Given the description of an element on the screen output the (x, y) to click on. 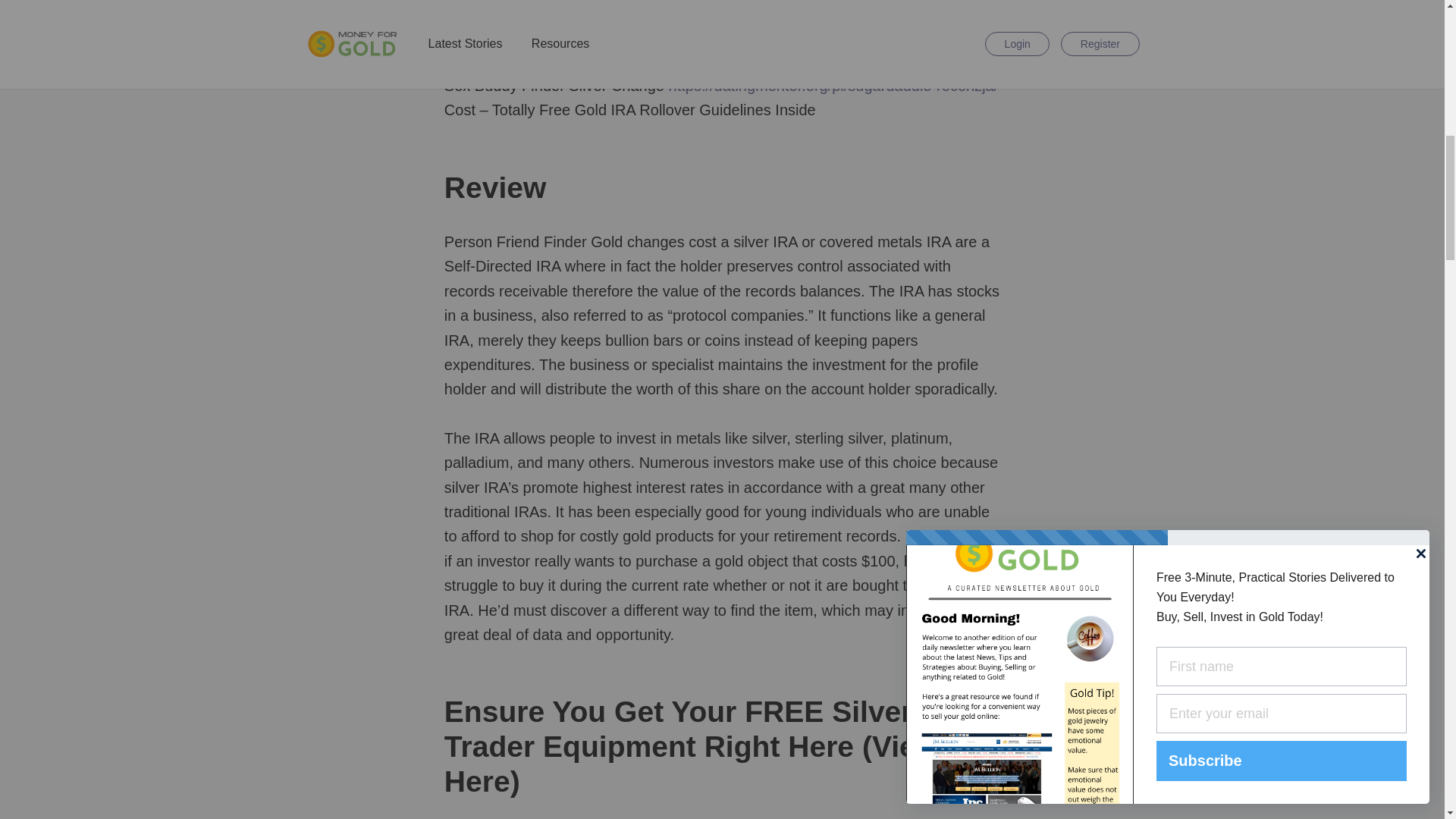
Gold IRA (582, 32)
Views (731, 32)
Published: 2022-01-02 22:00 (657, 32)
Terms (573, 32)
Author (488, 33)
